Given the description of an element on the screen output the (x, y) to click on. 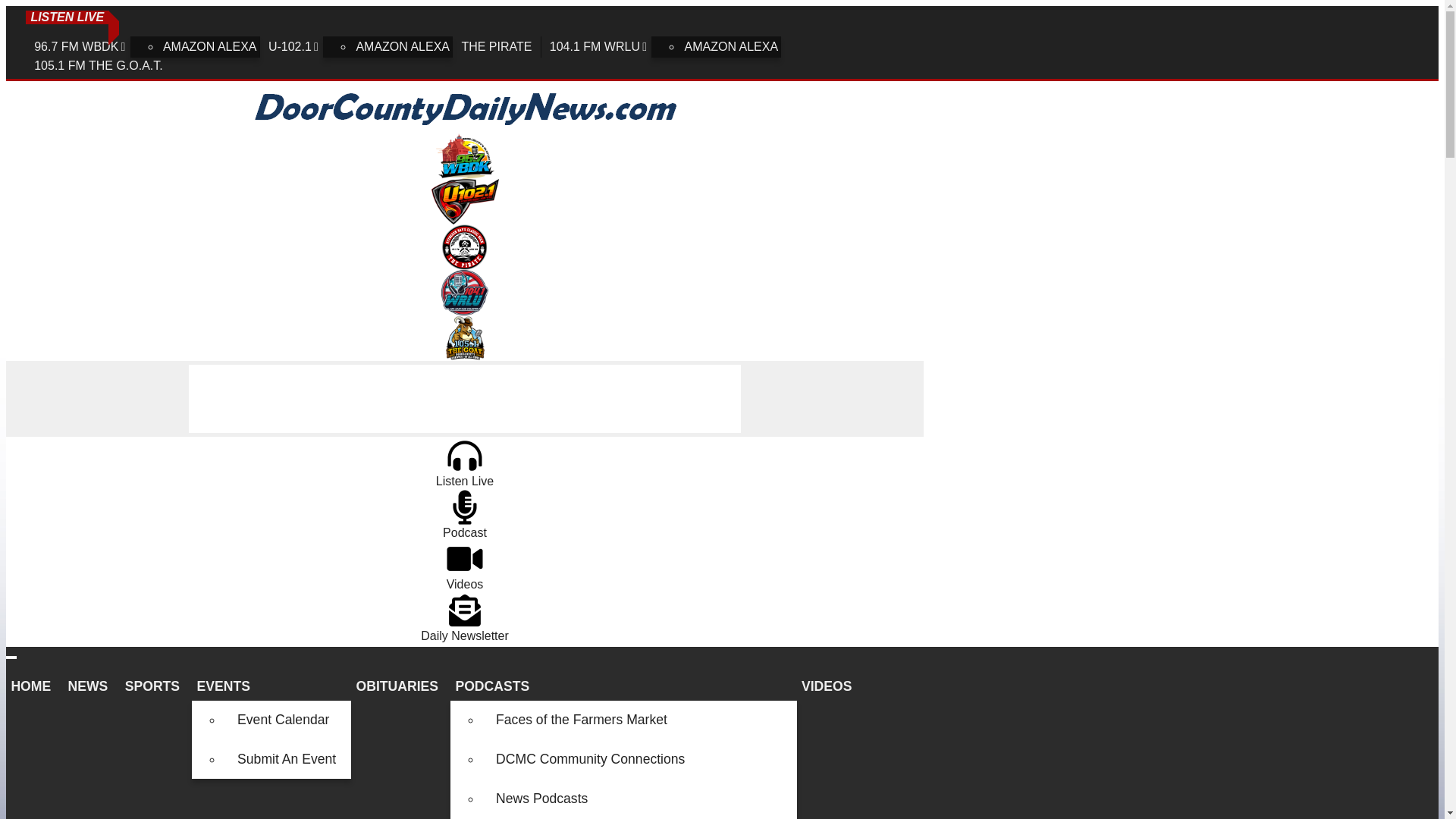
SPORTS (155, 686)
OBITUARIES (399, 686)
AMAZON ALEXA (402, 46)
AMAZON ALEXA (730, 46)
104.1 FM WRLU (599, 46)
U-102.1 (294, 46)
96.7 FM WBDK (81, 46)
Submit An Event (286, 759)
105.1 FM THE G.O.A.T. (98, 65)
NEWS (90, 686)
PODCASTS (622, 686)
Faces of the Farmers Market (638, 720)
EVENTS (271, 686)
HOME (33, 686)
Event Calendar (286, 720)
